Given the description of an element on the screen output the (x, y) to click on. 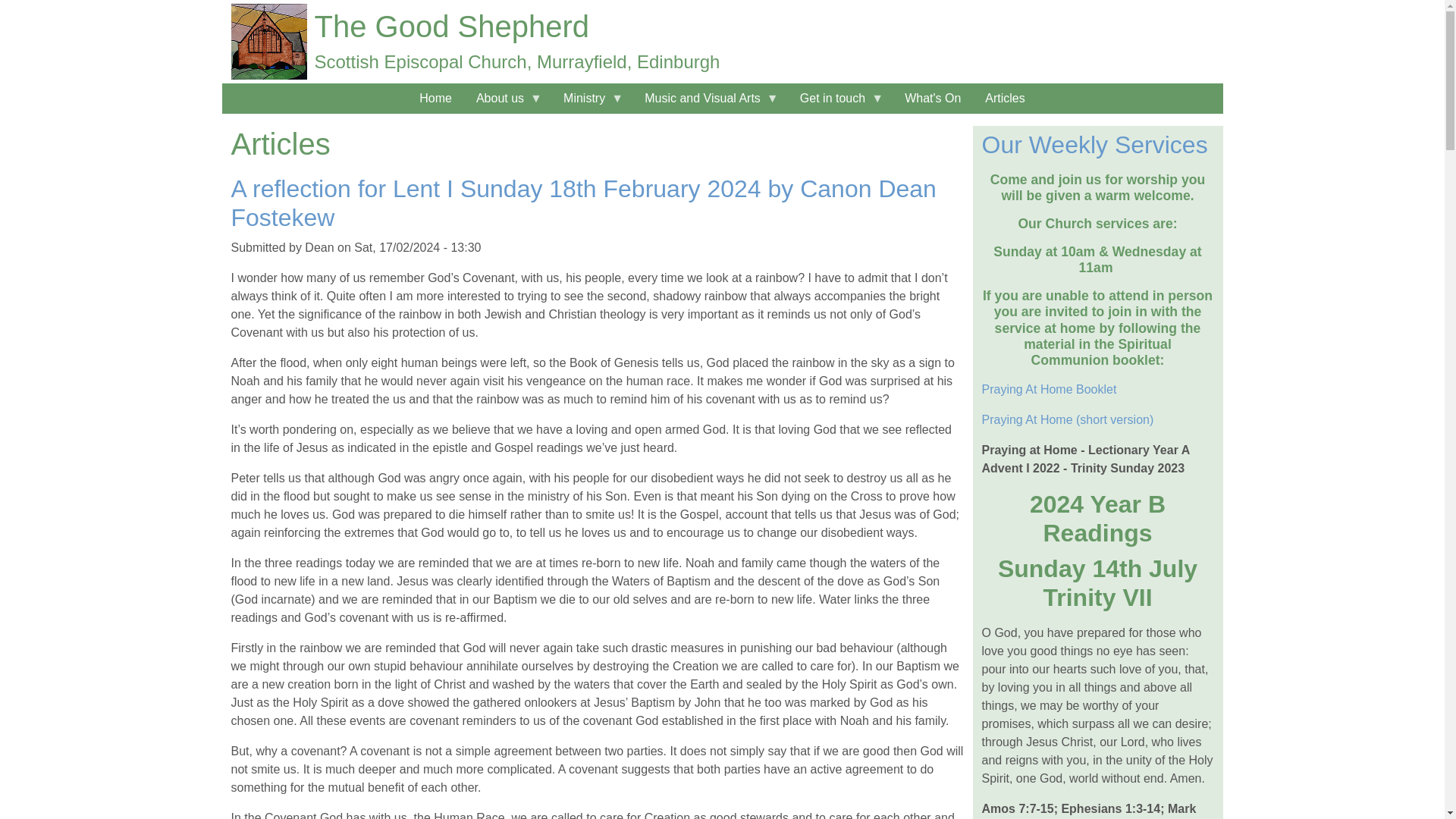
Saturday, February 17, 2024 - 13:30 (416, 246)
The Good Shepherd (451, 25)
Home (451, 25)
Home (435, 98)
What's On (932, 98)
Articles (1004, 98)
Home (267, 41)
